Given the description of an element on the screen output the (x, y) to click on. 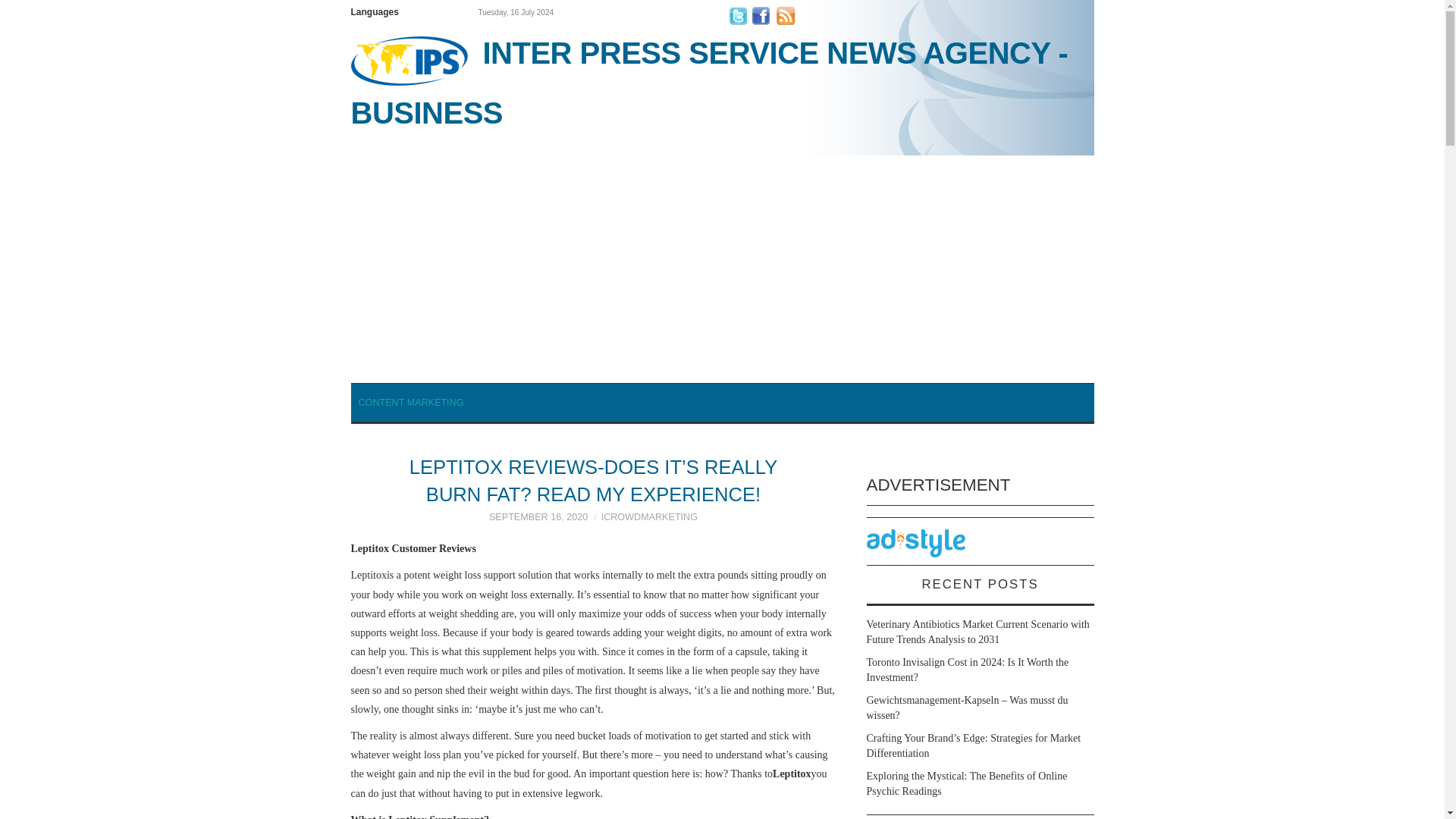
ICROWDMARKETING (649, 516)
INTER PRESS SERVICE NEWS AGENCY - BUSINESS (721, 82)
SEPTEMBER 16, 2020 (538, 516)
CONTENT MARKETING (410, 402)
Business (721, 82)
